Given the description of an element on the screen output the (x, y) to click on. 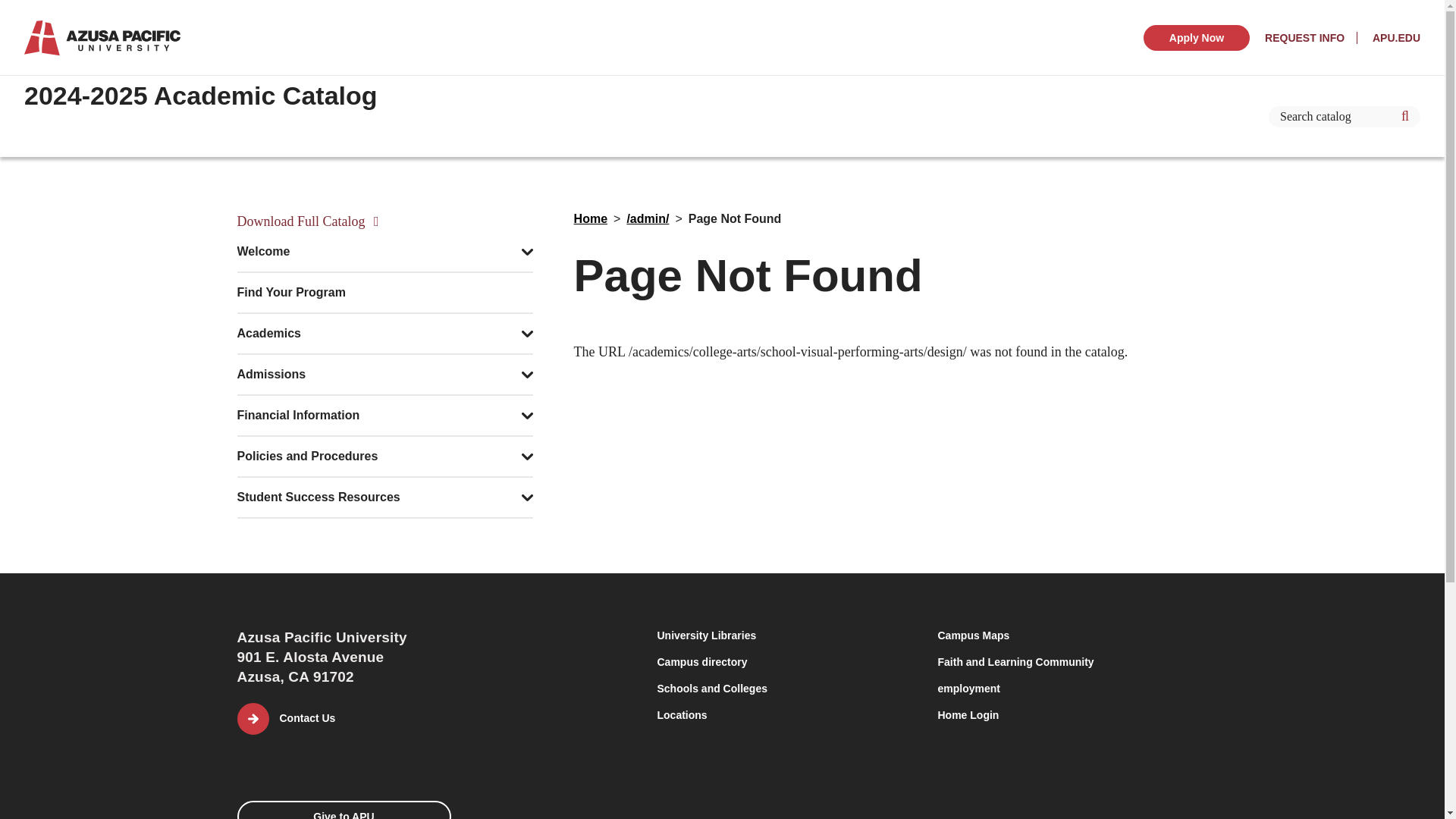
Welcome (262, 251)
Find Your Program (290, 292)
APU.EDU (1390, 37)
Download Full Catalog (383, 221)
Submit search (1405, 116)
Academics (268, 333)
REQUEST INFO (1310, 37)
Apply Now (1195, 36)
2024-2025 Academic Catalog (200, 95)
